Given the description of an element on the screen output the (x, y) to click on. 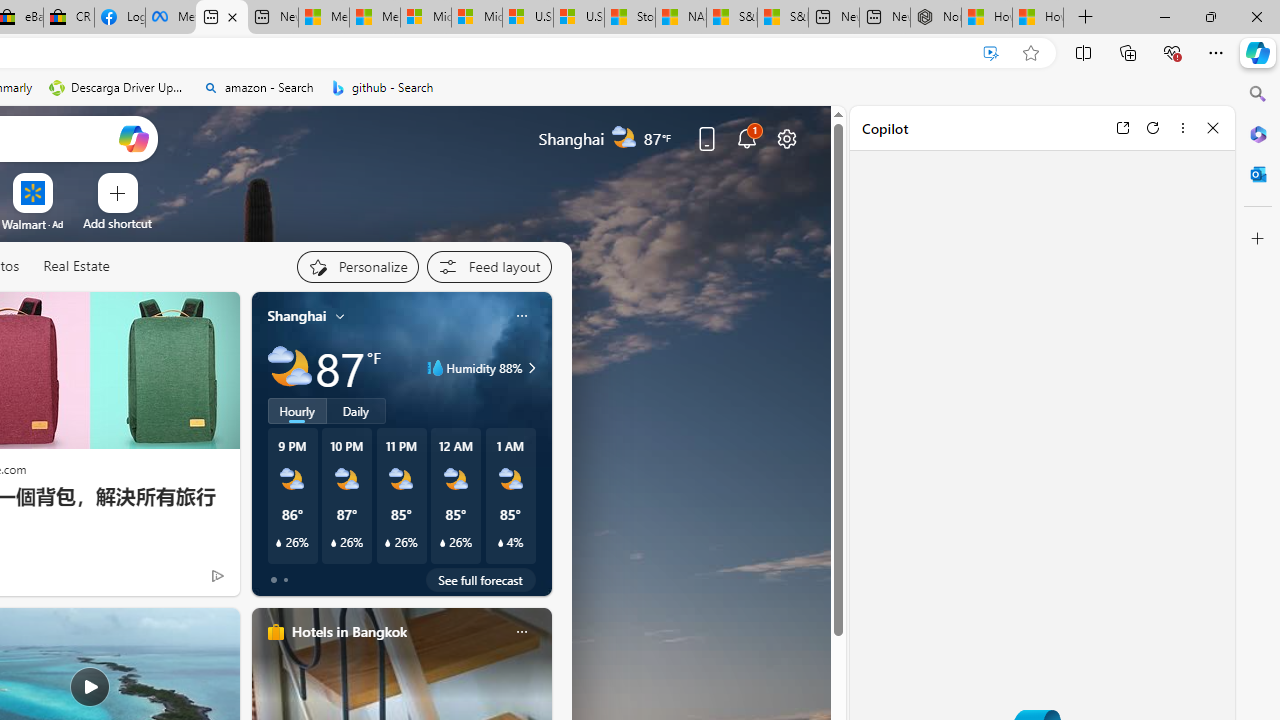
Browser essentials (1171, 52)
Search (1258, 94)
How to Use a Monitor With Your Closed Laptop (1037, 17)
tab-0 (273, 579)
Descarga Driver Updater (118, 88)
Class: icon-img (521, 632)
Restore (1210, 16)
Partly cloudy (289, 368)
Class: weather-current-precipitation-glyph (500, 543)
Ad Choice (217, 575)
